Given the description of an element on the screen output the (x, y) to click on. 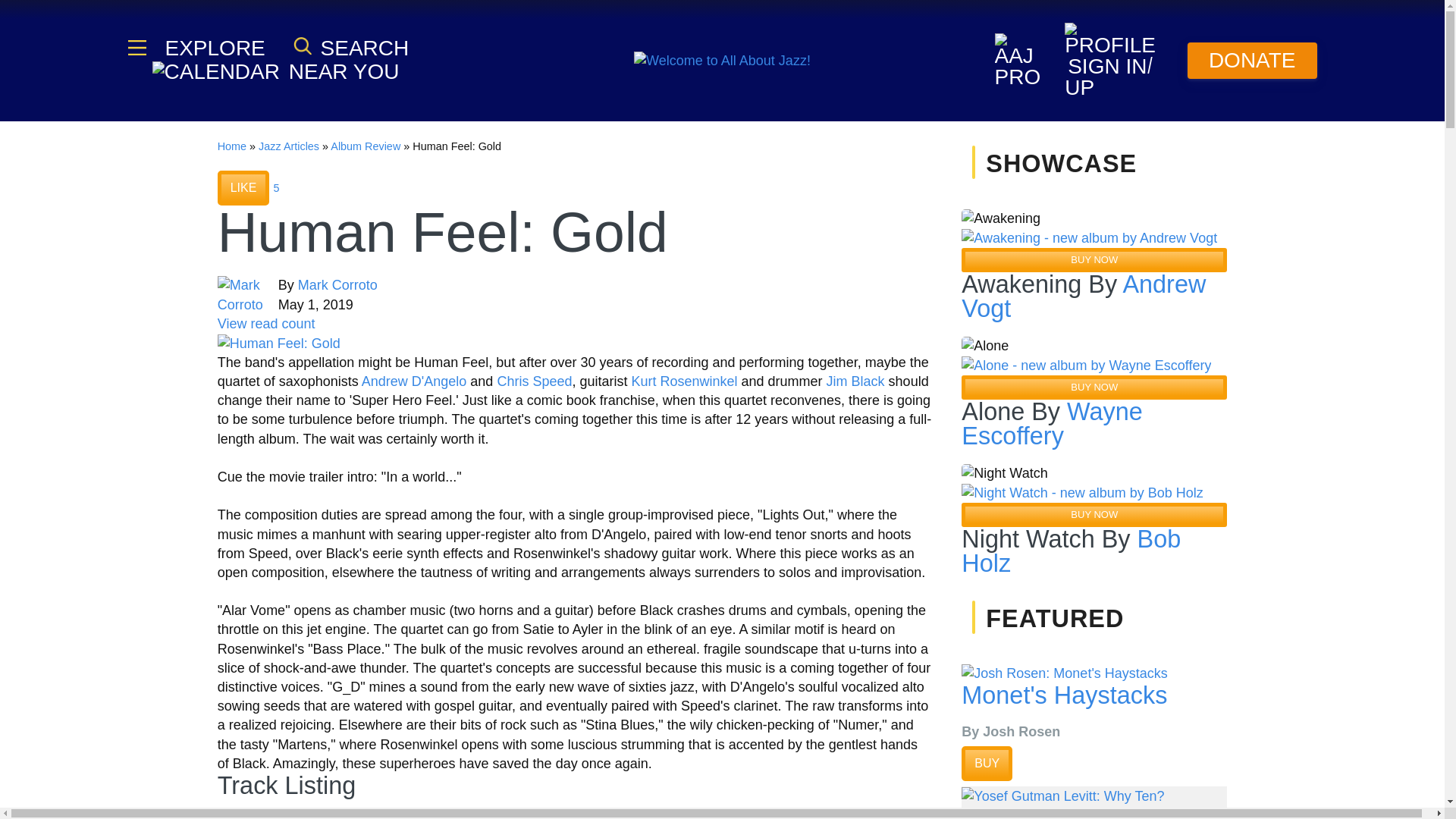
Kurt Rosenwinkel (683, 381)
Chris Speed (534, 381)
Human Feel: Gold (278, 343)
Jazz Articles (288, 146)
Search All About Jazz by category (351, 47)
View Gold at All About Jazz (278, 342)
AAJ Essentials (136, 48)
SEARCH (351, 47)
Welcome to All About Jazz! (721, 60)
Support All About Jazz and go ad-free! (1252, 60)
